Given the description of an element on the screen output the (x, y) to click on. 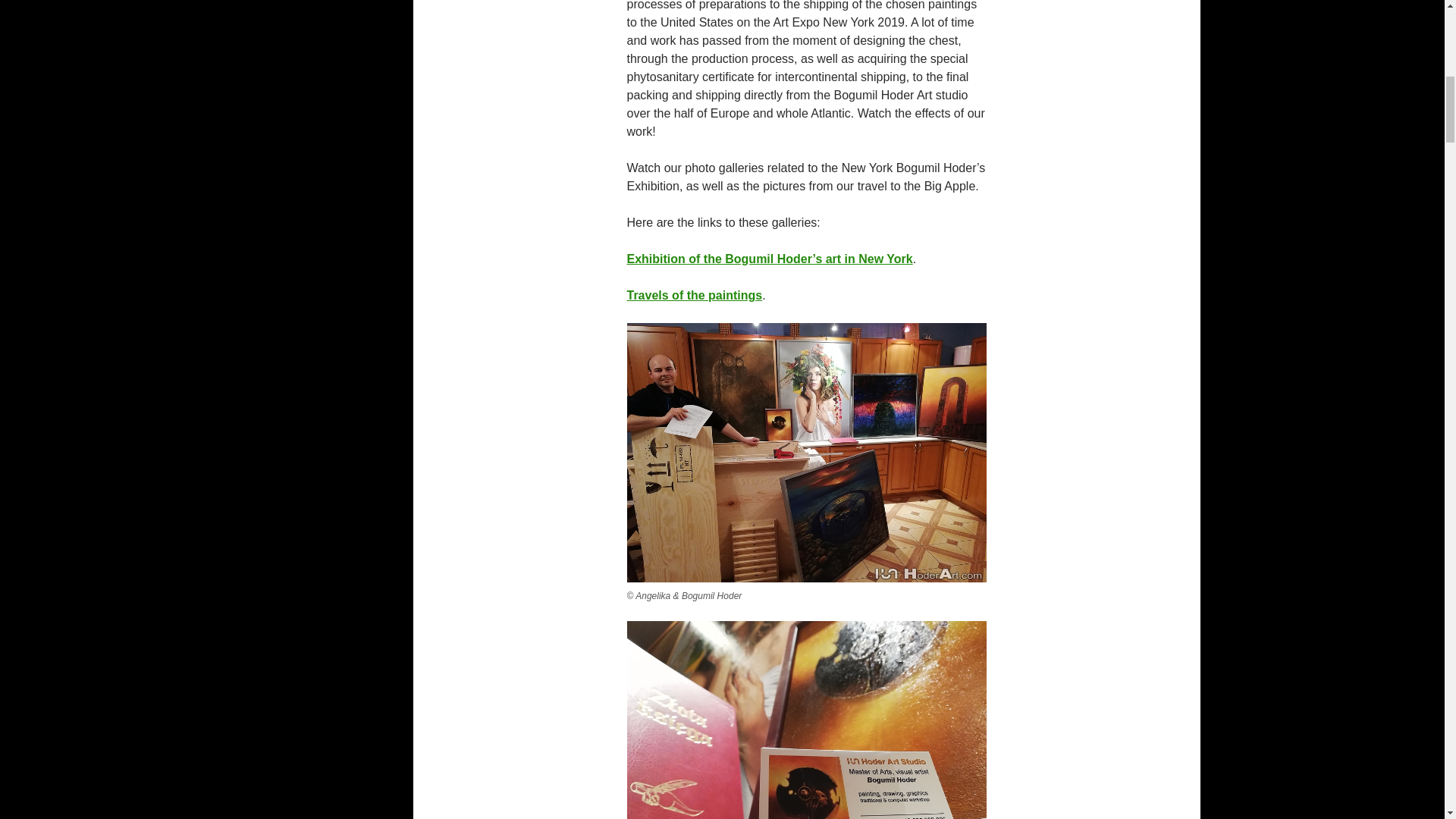
Travels of the paintings (693, 295)
